Given the description of an element on the screen output the (x, y) to click on. 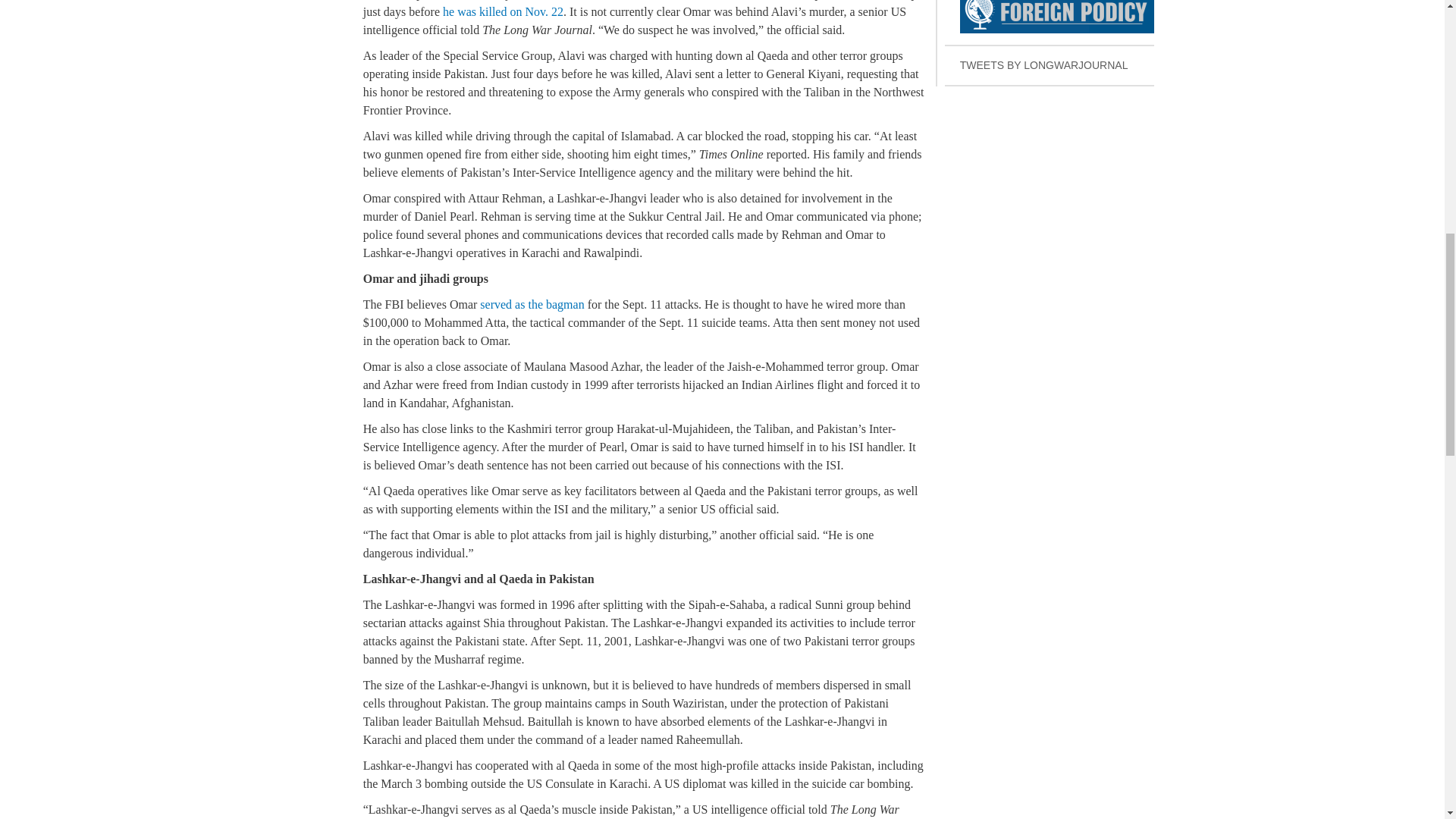
served as the bagman (1049, 22)
he was killed on Nov. 22 (531, 304)
TWEETS BY LONGWARJOURNAL (502, 11)
